Given the description of an element on the screen output the (x, y) to click on. 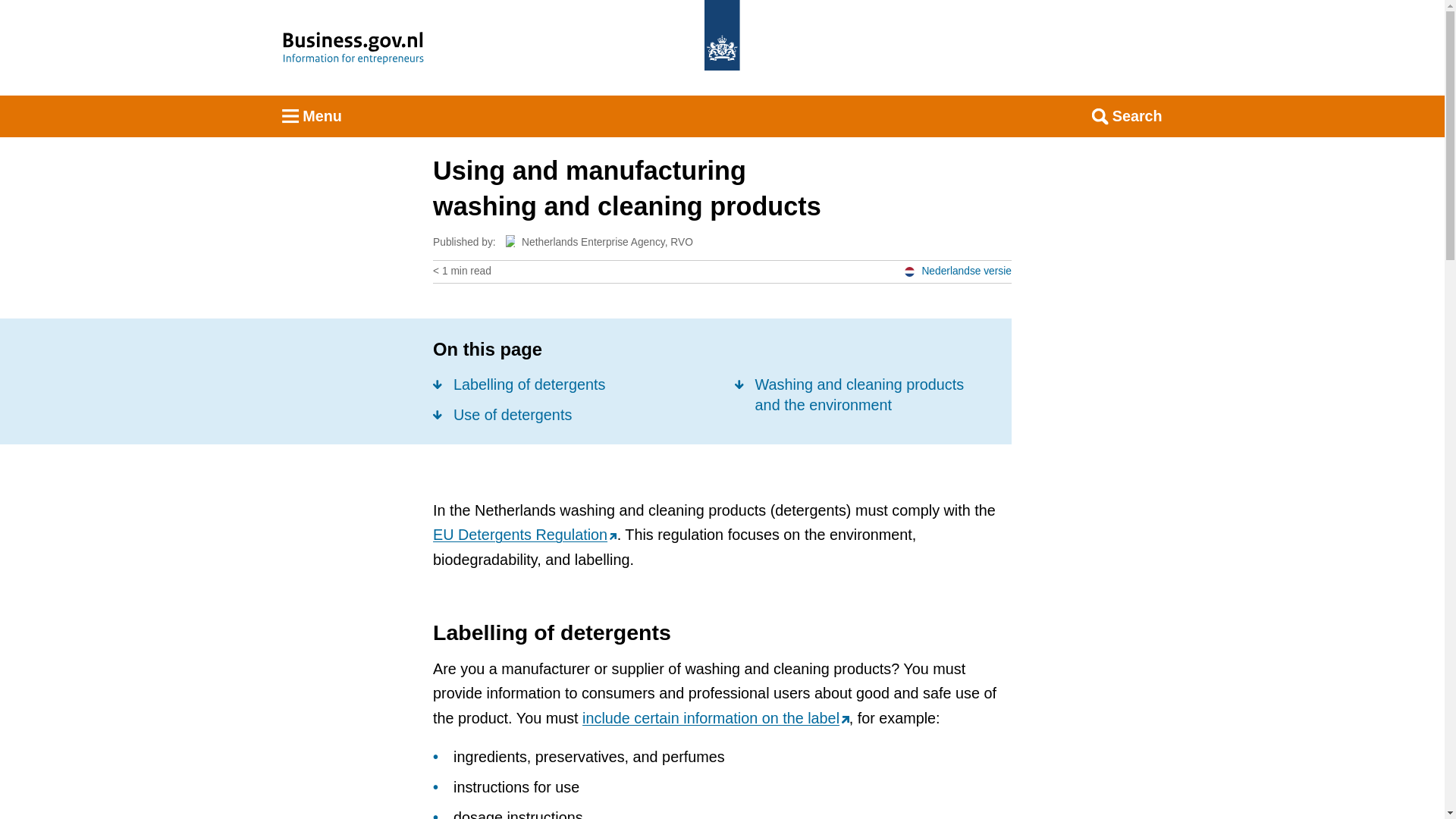
Menu (312, 116)
Use of detergents (502, 414)
EU Detergents Regulation (524, 534)
Nederlandse versie (957, 271)
include certain information on the label (715, 718)
Washing and cleaning products and the environment (861, 394)
Labelling of detergents (518, 384)
Skip to navigation (742, 28)
